Given the description of an element on the screen output the (x, y) to click on. 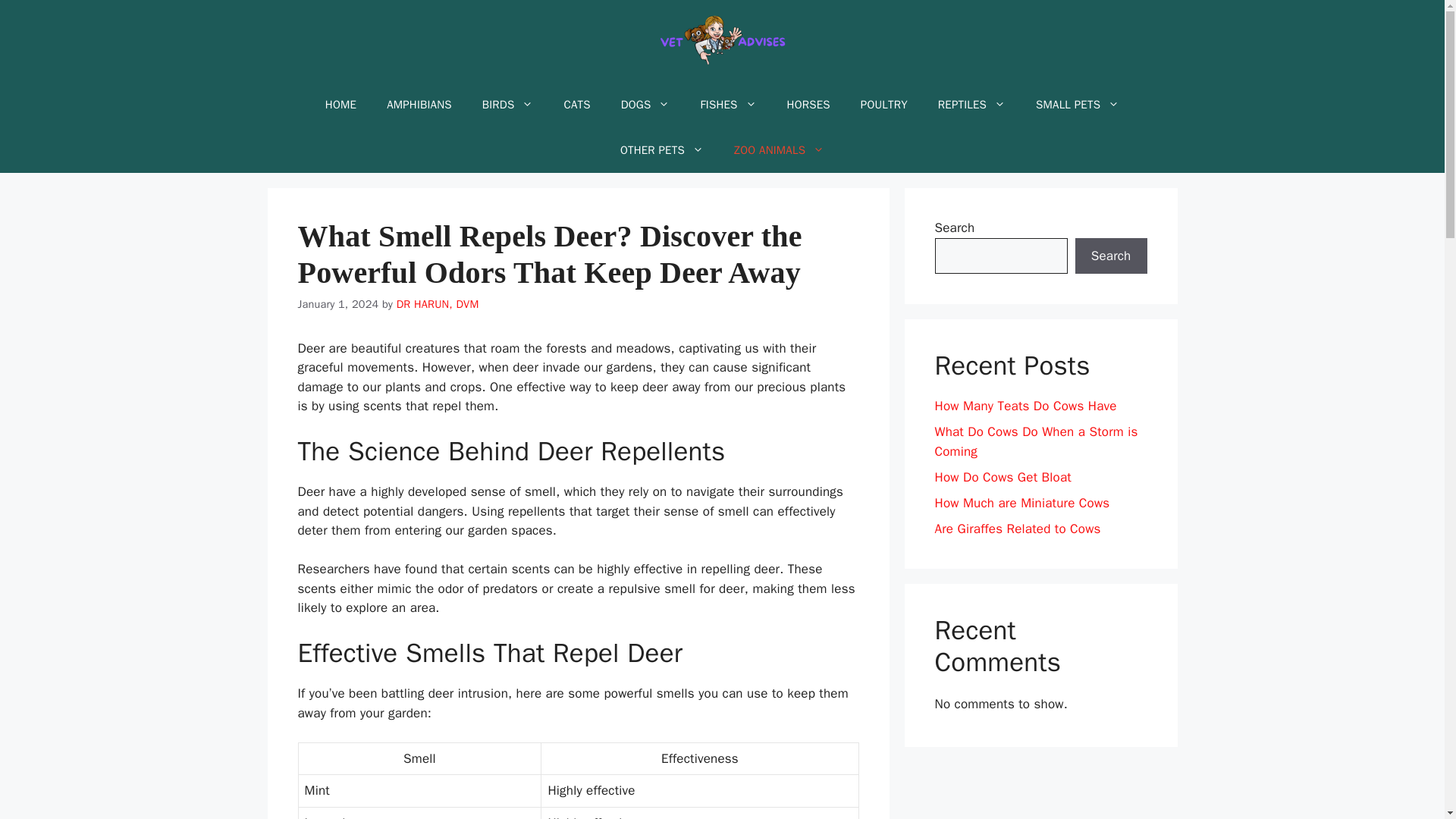
View all posts by DR HARUN, DVM (437, 304)
BIRDS (507, 104)
HORSES (808, 104)
ZOO ANIMALS (779, 149)
REPTILES (971, 104)
DR HARUN, DVM (437, 304)
CATS (576, 104)
DOGS (645, 104)
SMALL PETS (1077, 104)
FISHES (727, 104)
